Given the description of an element on the screen output the (x, y) to click on. 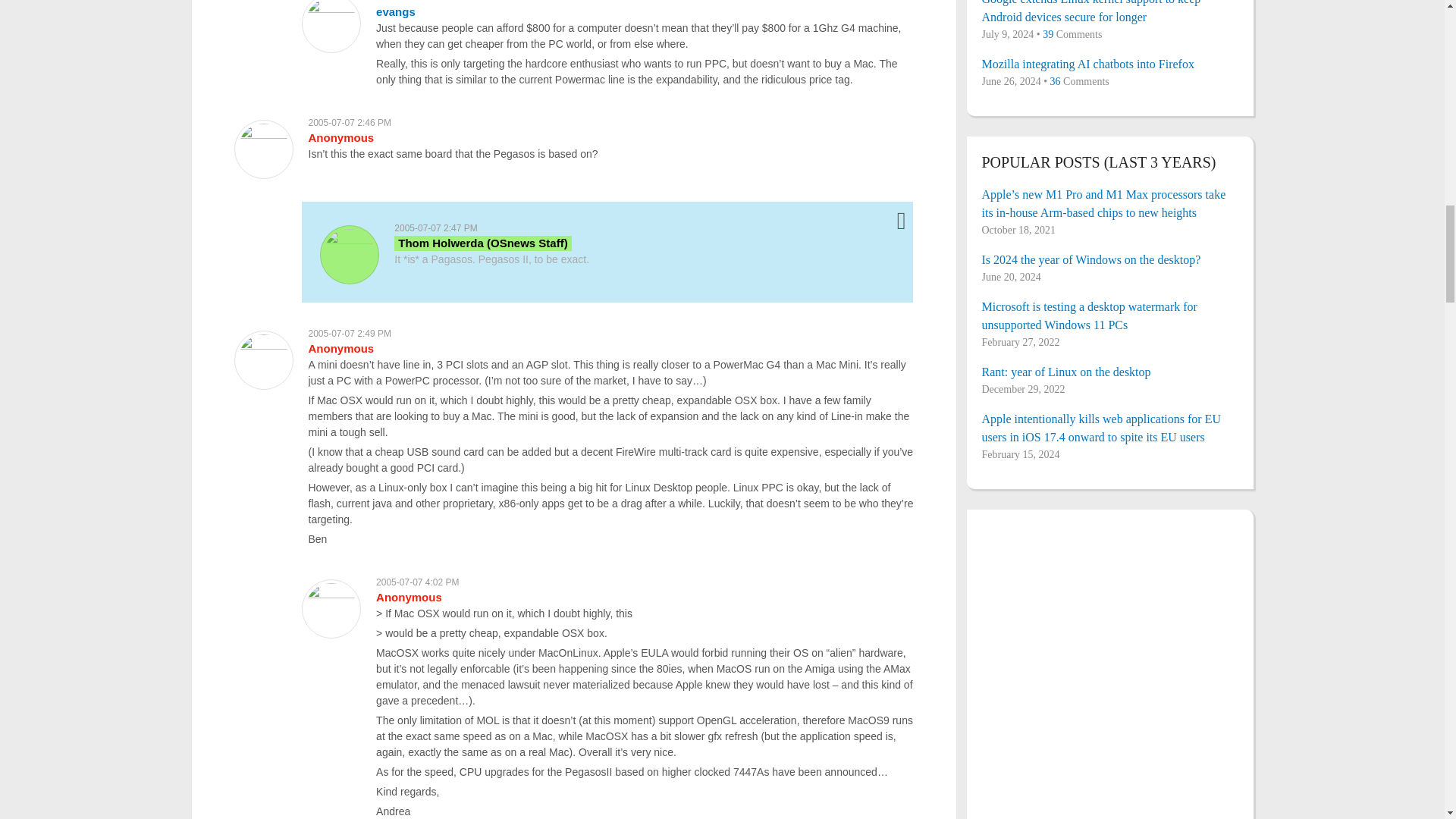
Anonymous (340, 137)
Thom Holwerda (482, 242)
evangs (394, 11)
Anonymous (408, 596)
Anonymous (340, 348)
